Given the description of an element on the screen output the (x, y) to click on. 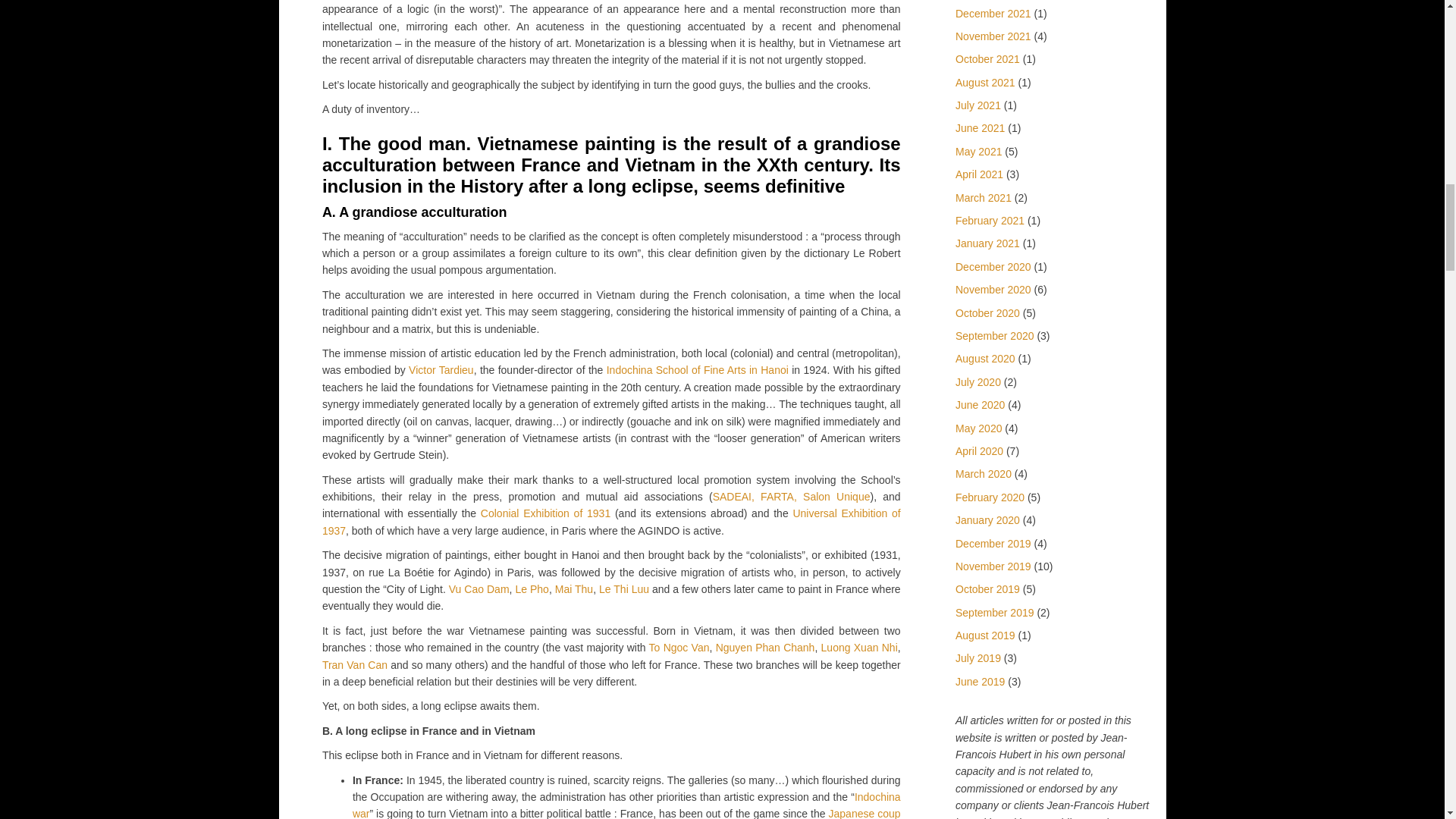
Victor Tardieu (441, 369)
To Ngoc Van (679, 647)
Indochina School of Fine Arts in Hanoi (698, 369)
Colonial Exhibition of 1931 (545, 512)
Universal Exhibition of 1937 (611, 521)
Le Thi Luu (623, 589)
Luong Xuan Nhi (859, 647)
Tran Van Can (354, 664)
Le Pho (531, 589)
Vu Cao Dam (478, 589)
